Given the description of an element on the screen output the (x, y) to click on. 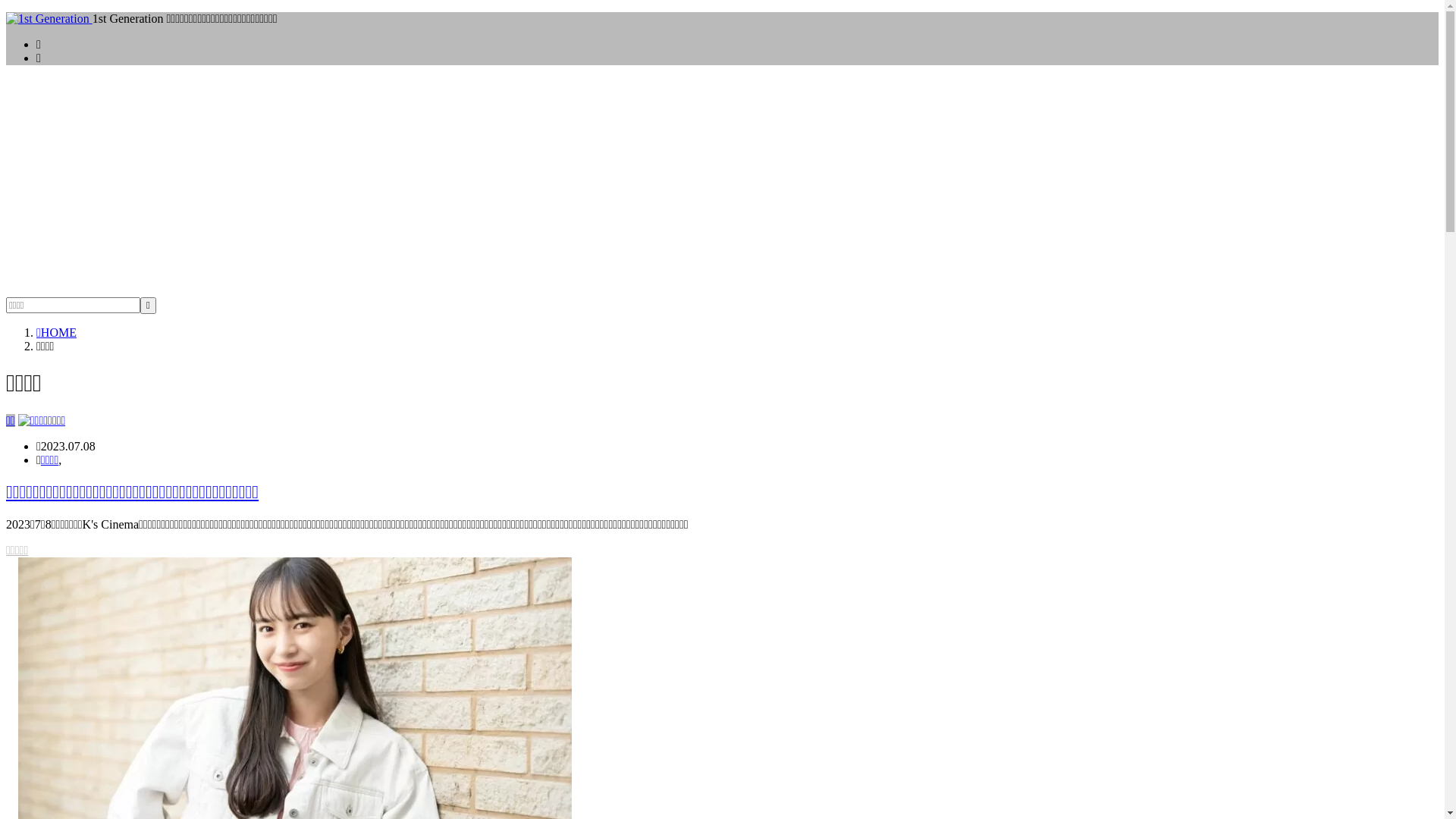
HOME Element type: text (56, 332)
search Element type: text (148, 305)
